Given the description of an element on the screen output the (x, y) to click on. 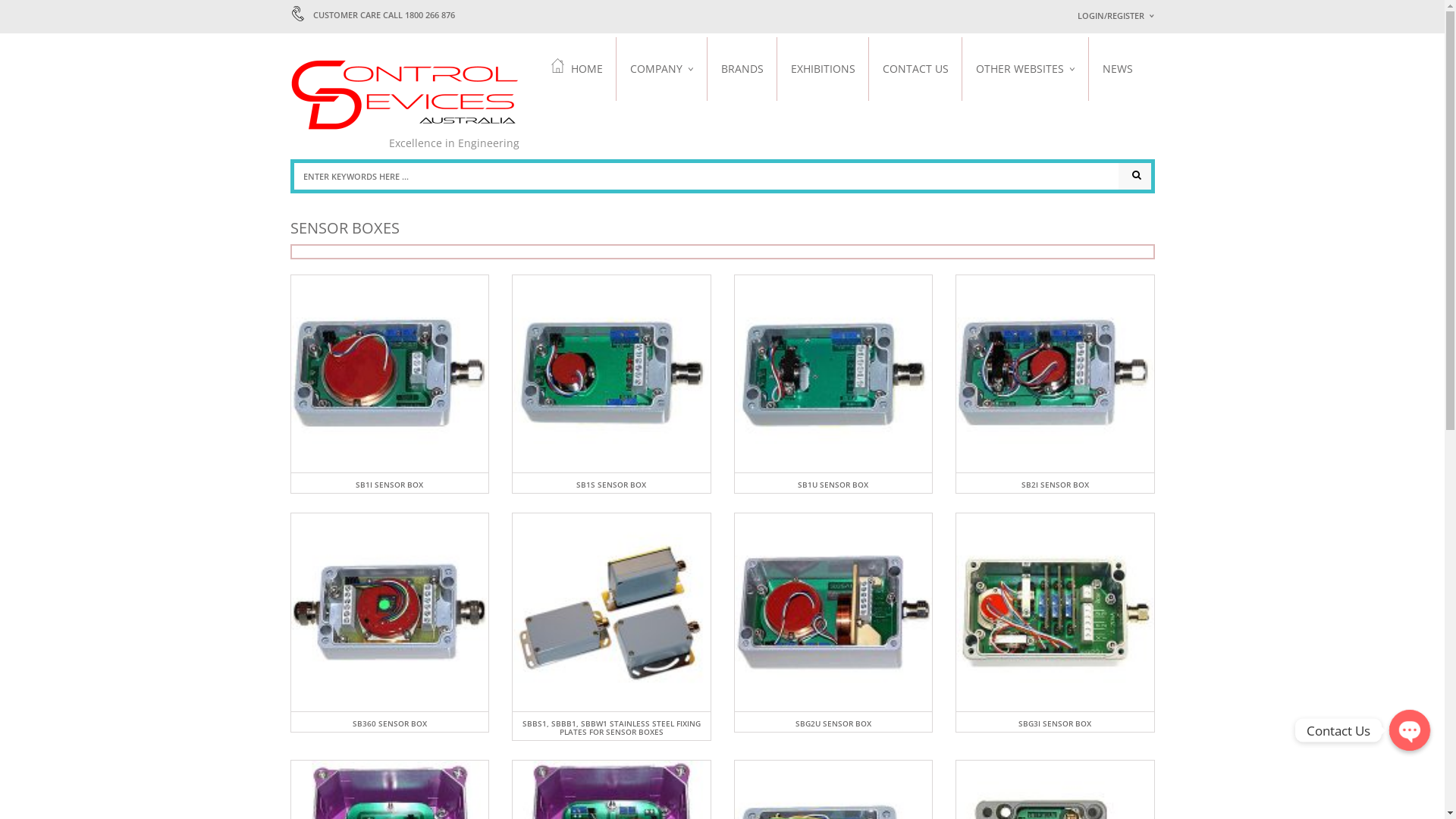
OTHER WEBSITES Element type: text (1024, 68)
SB1I SENSOR BOX Element type: text (389, 484)
SB360 SENSOR BOX Element type: text (389, 723)
Login Element type: text (1283, 212)
SB1U SENSOR BOX Element type: text (832, 484)
EXHIBITIONS Element type: text (822, 68)
NEWS Element type: text (1117, 68)
SB1S SENSOR BOX Element type: text (611, 484)
CONTACT US Element type: text (915, 68)
BRANDS Element type: text (741, 68)
HOME Element type: text (583, 67)
SB2I SENSOR BOX Element type: text (1054, 484)
LOGIN/REGISTER Element type: text (1115, 15)
COMPANY Element type: text (660, 68)
SBG3I SENSOR BOX Element type: text (1054, 723)
SBG2U SENSOR BOX Element type: text (833, 723)
Search Element type: text (1133, 176)
